Given the description of an element on the screen output the (x, y) to click on. 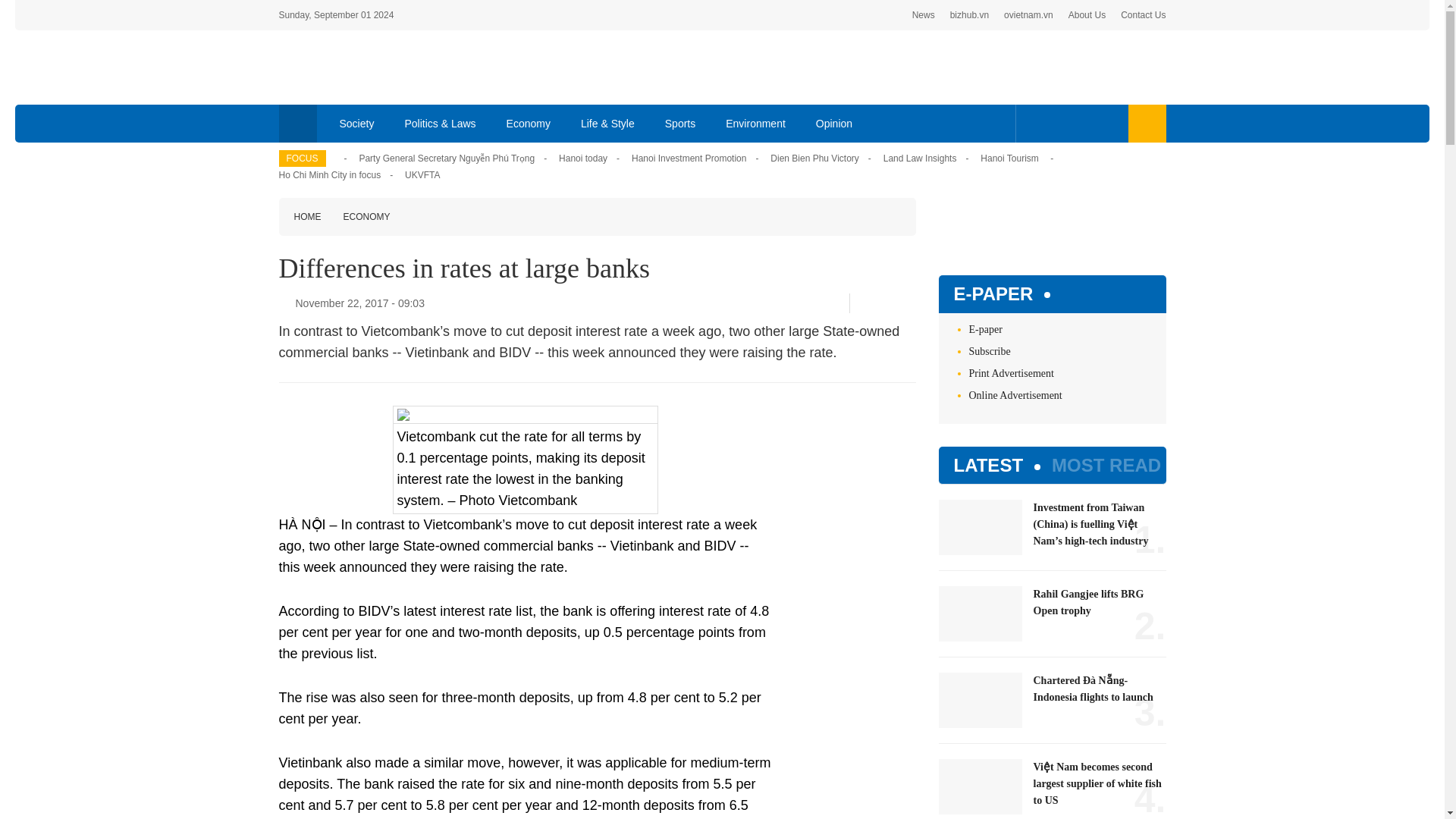
Facebook (1035, 123)
bizhub.vn (969, 15)
Twitter (885, 303)
Twitter (1056, 122)
Environment (755, 123)
ovietnam.vn (1028, 15)
News (923, 15)
About Us (1086, 15)
Instagram (1106, 123)
Email (909, 303)
